Given the description of an element on the screen output the (x, y) to click on. 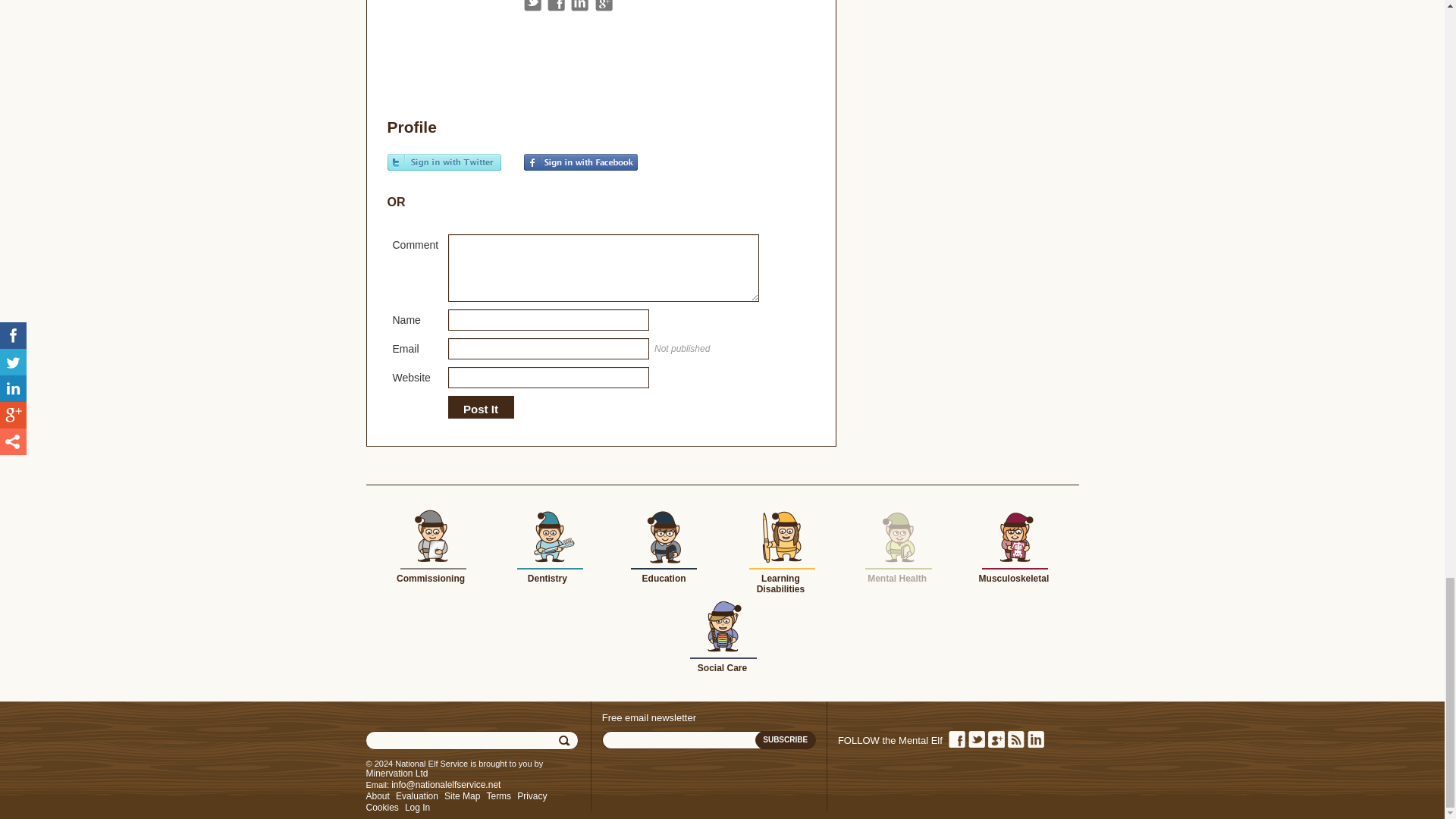
Subscribe (785, 740)
Facebook (555, 5)
Search (565, 741)
Post It (479, 409)
Twitter (531, 5)
